Given the description of an element on the screen output the (x, y) to click on. 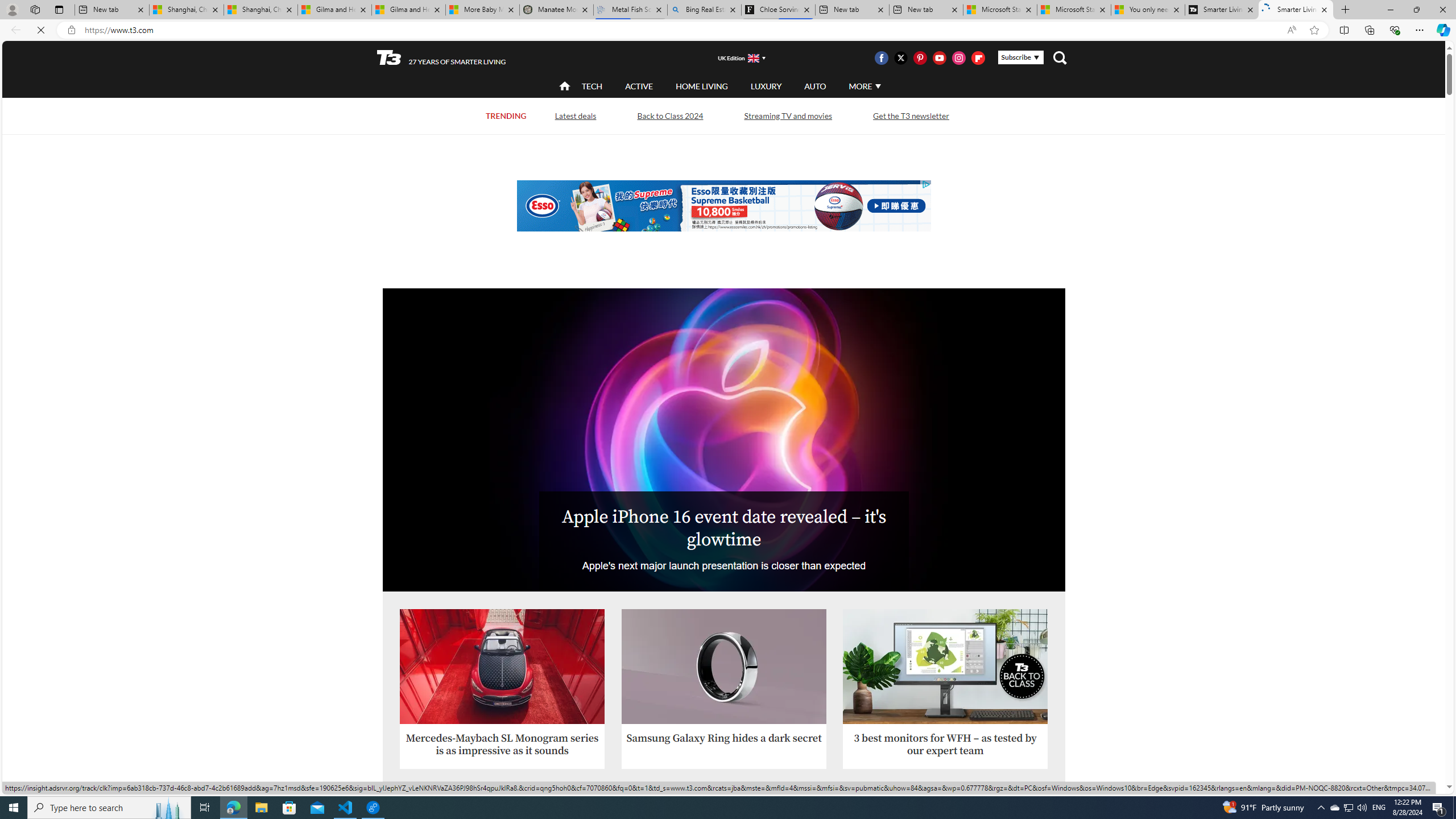
Visit us on Pintrest (919, 57)
Get the T3 newsletter (910, 115)
LUXURY (765, 86)
Streaming TV and movies (788, 115)
Smarter Living | T3 (1295, 9)
ACTIVE (638, 85)
Class: icon-svg (978, 57)
Class: svg-arrow-down (877, 86)
Back to Class 2024 (669, 115)
